Given the description of an element on the screen output the (x, y) to click on. 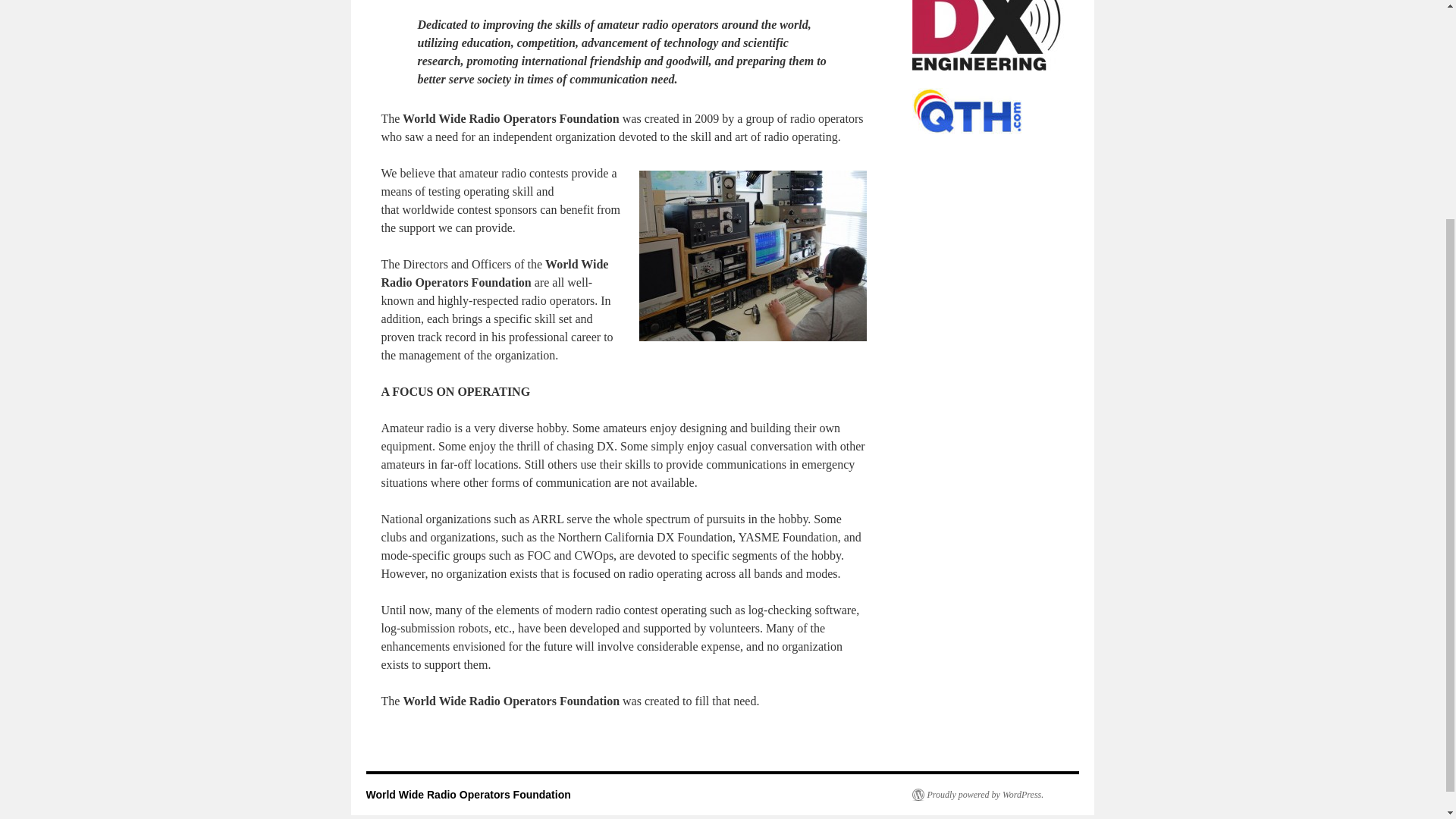
World Wide Radio Operators Foundation (467, 794)
Semantic Personal Publishing Platform (977, 794)
Proudly powered by WordPress. (977, 794)
